Given the description of an element on the screen output the (x, y) to click on. 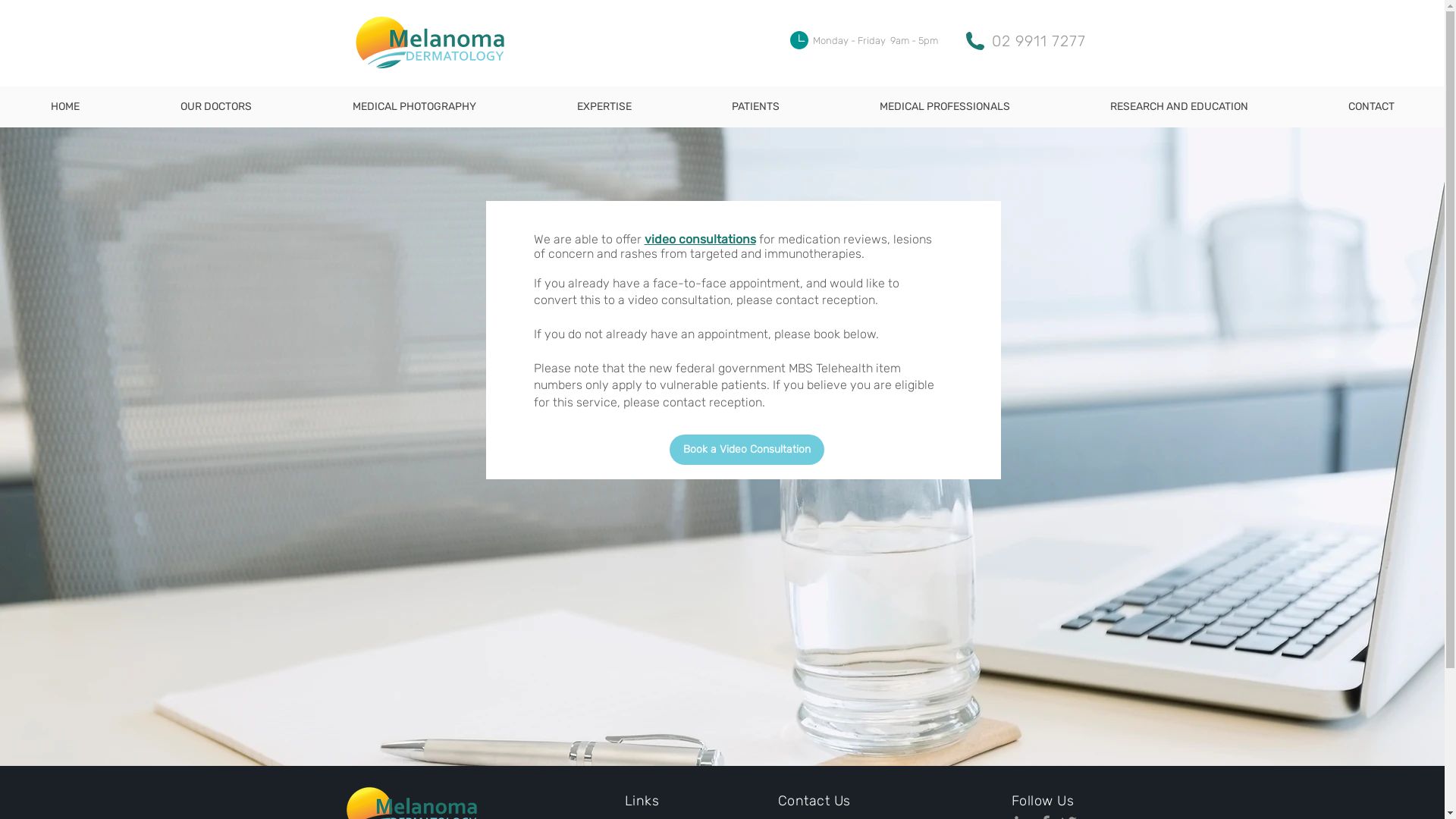
PATIENTS Element type: text (755, 106)
MEDICAL PROFESSIONALS Element type: text (944, 106)
video consultations Element type: text (700, 239)
OUR DOCTORS Element type: text (215, 106)
CONTACT Element type: text (1371, 106)
MEDICAL PHOTOGRAPHY Element type: text (413, 106)
Book a Video Consultation Element type: text (745, 449)
HOME Element type: text (64, 106)
RESEARCH AND EDUCATION Element type: text (1179, 106)
EXPERTISE Element type: text (603, 106)
Embedded Content Element type: hover (684, 288)
